Given the description of an element on the screen output the (x, y) to click on. 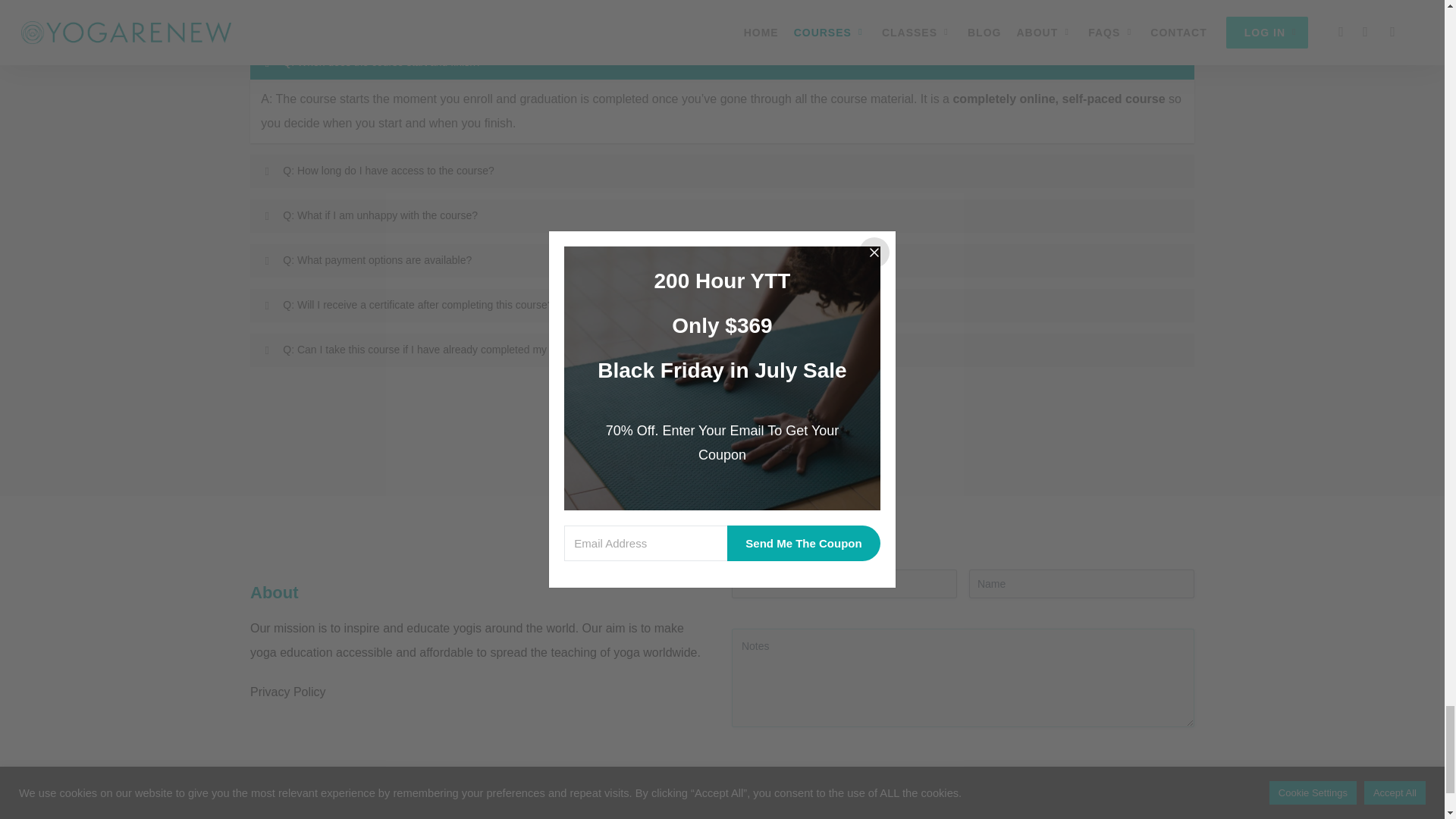
Submit (761, 814)
